Given the description of an element on the screen output the (x, y) to click on. 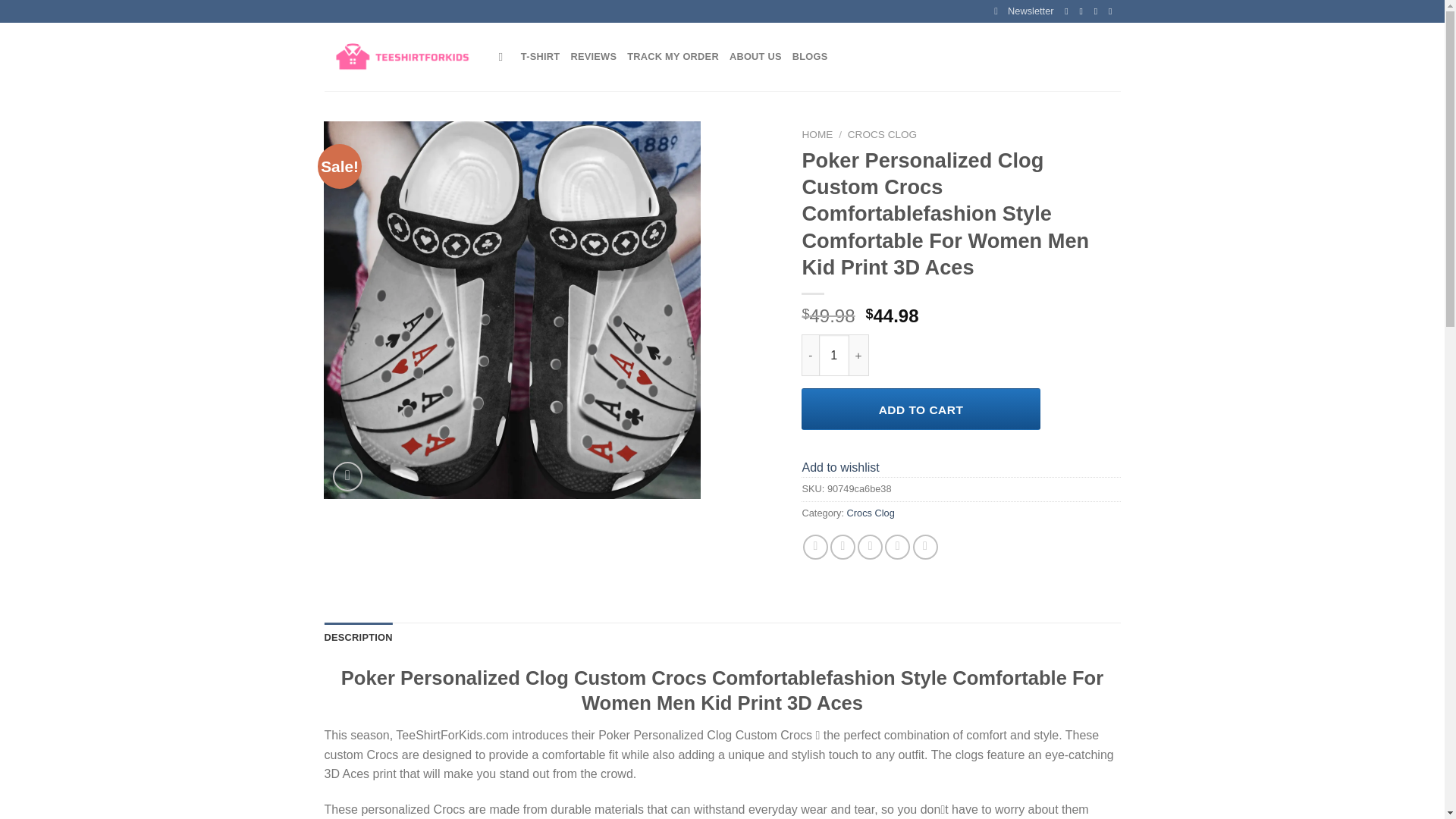
Add to wishlist (840, 467)
DESCRIPTION (358, 637)
BLOGS (810, 56)
Zoom (347, 476)
Crocs Clog (871, 512)
Sign up for Newsletter (1023, 11)
Share on Facebook (815, 546)
Tee Shirt For Kids (400, 57)
ABOUT US (755, 56)
